Given the description of an element on the screen output the (x, y) to click on. 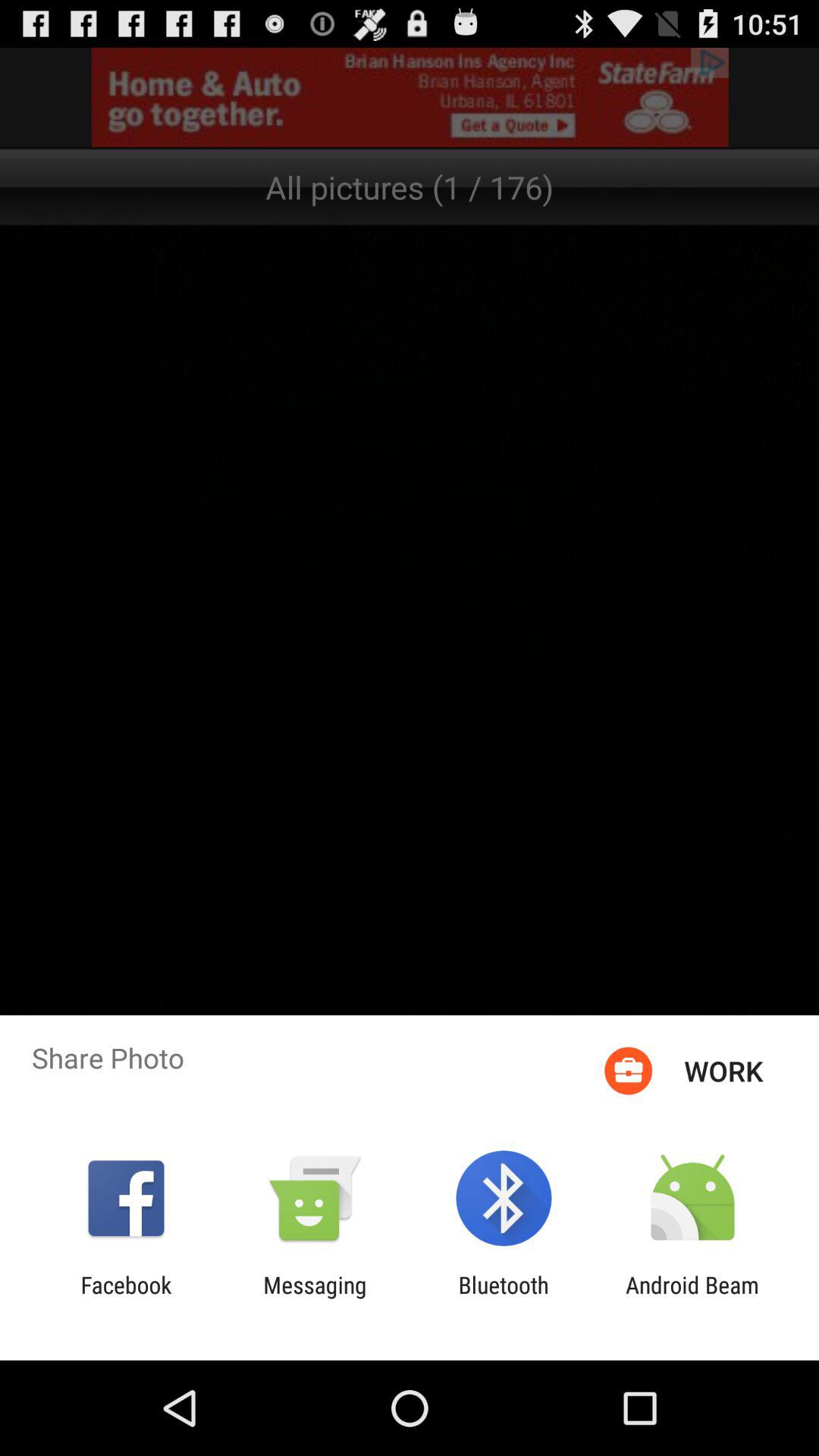
tap the android beam item (692, 1298)
